Given the description of an element on the screen output the (x, y) to click on. 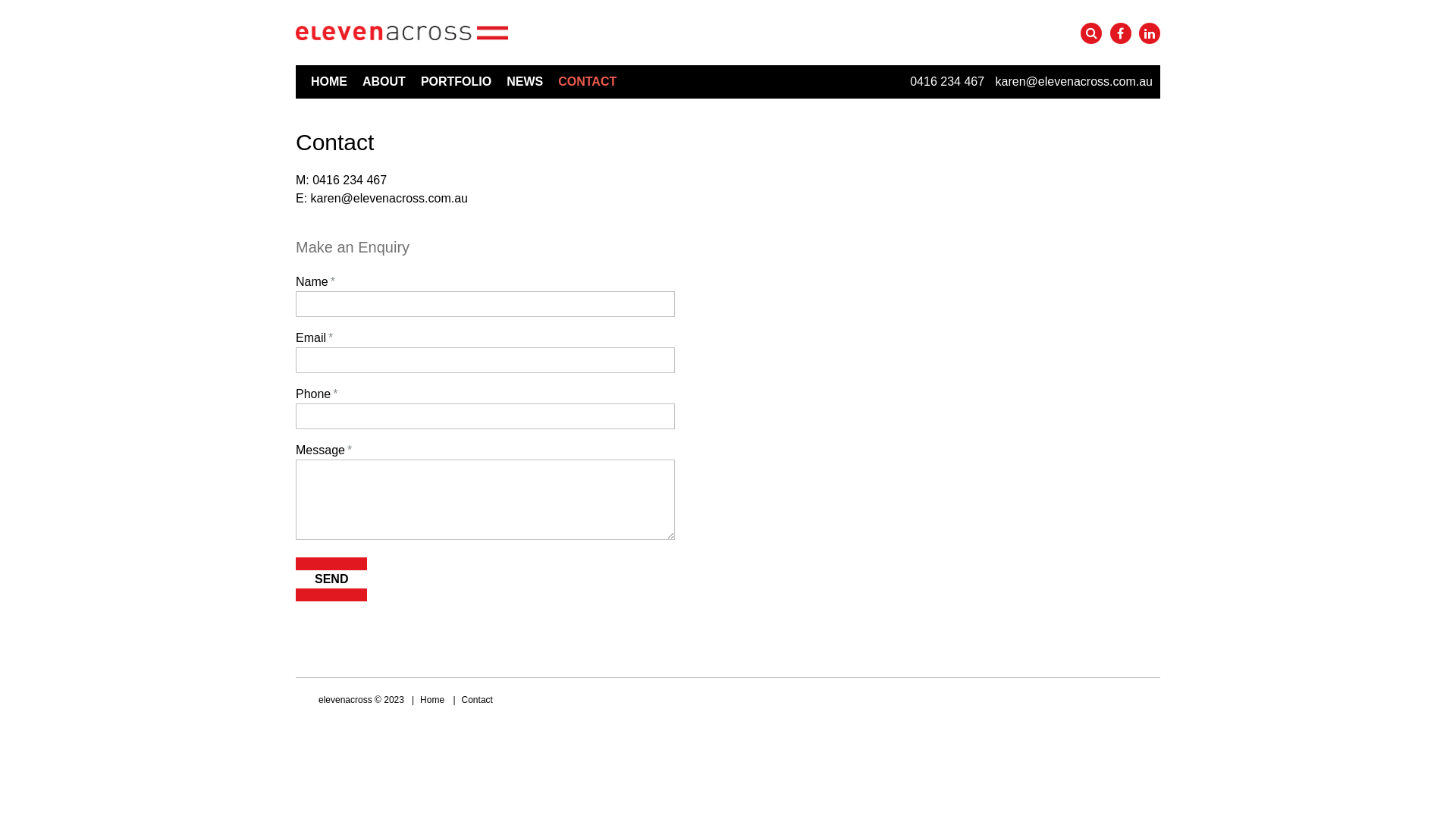
NEWS Element type: text (524, 81)
Send Element type: text (331, 579)
karen@elevenacross.com.au Element type: text (1073, 81)
HOME Element type: text (328, 81)
Home Element type: text (432, 699)
PORTFOLIO Element type: text (455, 81)
ABOUT Element type: text (383, 81)
CONTACT Element type: text (587, 81)
Contact Element type: text (476, 699)
Search Element type: hover (1090, 32)
